Given the description of an element on the screen output the (x, y) to click on. 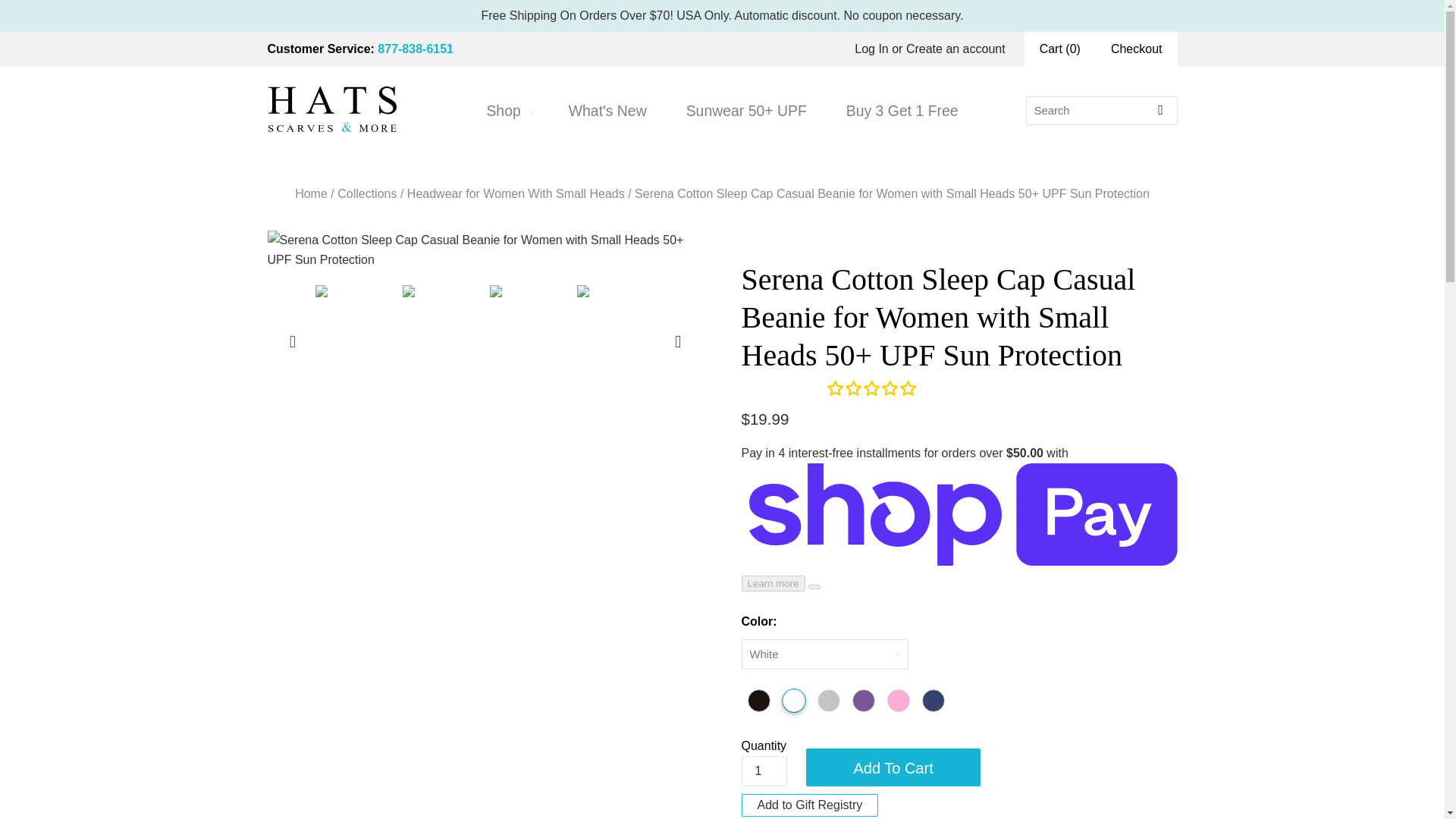
Customer Service: 877-838-6151 (360, 48)
Add to Gift Registry (810, 804)
Shop (506, 110)
1 (764, 770)
Add To Cart (892, 767)
Log In (871, 48)
Create an account (955, 48)
Checkout (1136, 48)
